Given the description of an element on the screen output the (x, y) to click on. 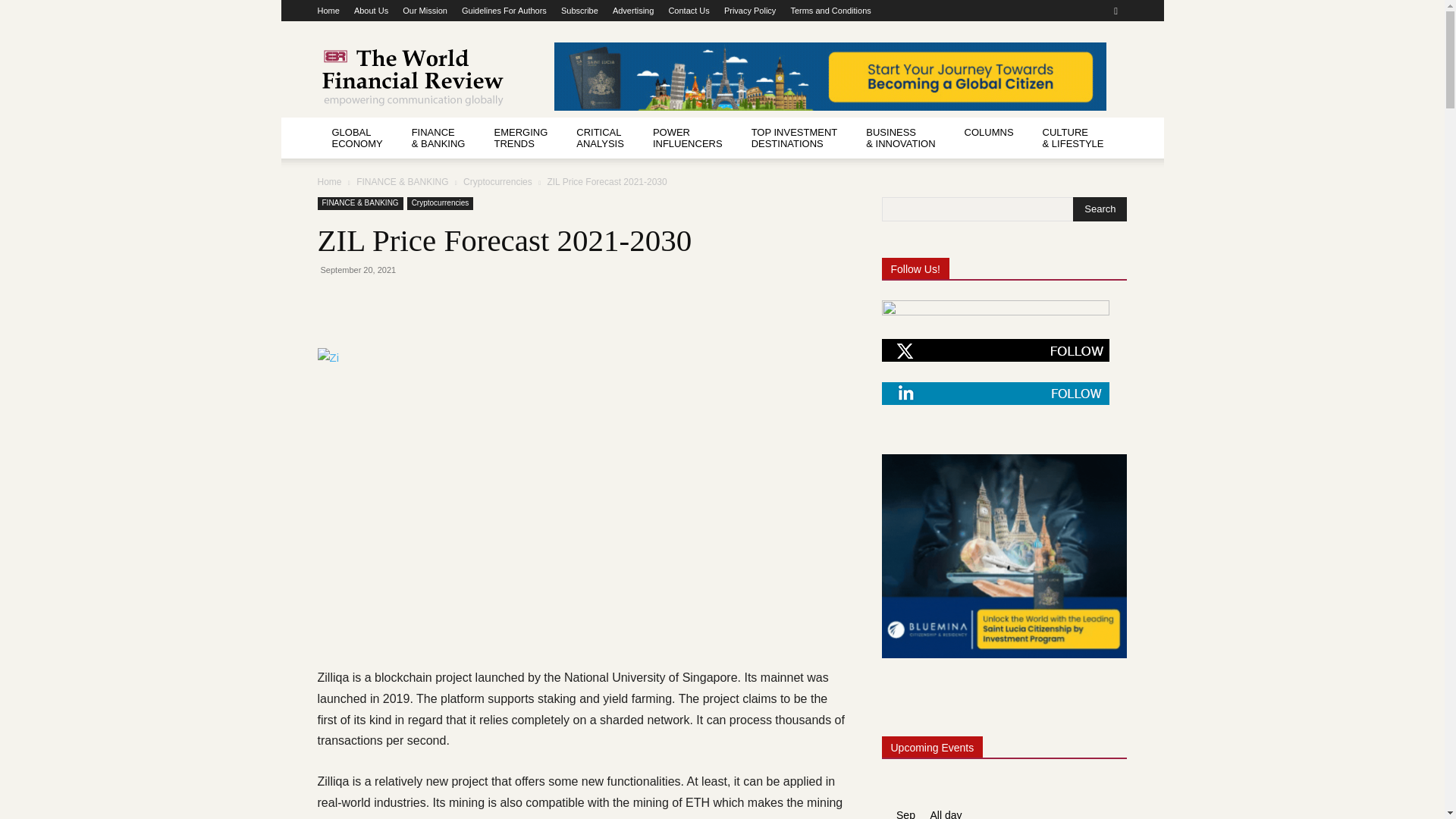
Search (1099, 209)
View all posts in Cryptocurrencies (497, 181)
